Given the description of an element on the screen output the (x, y) to click on. 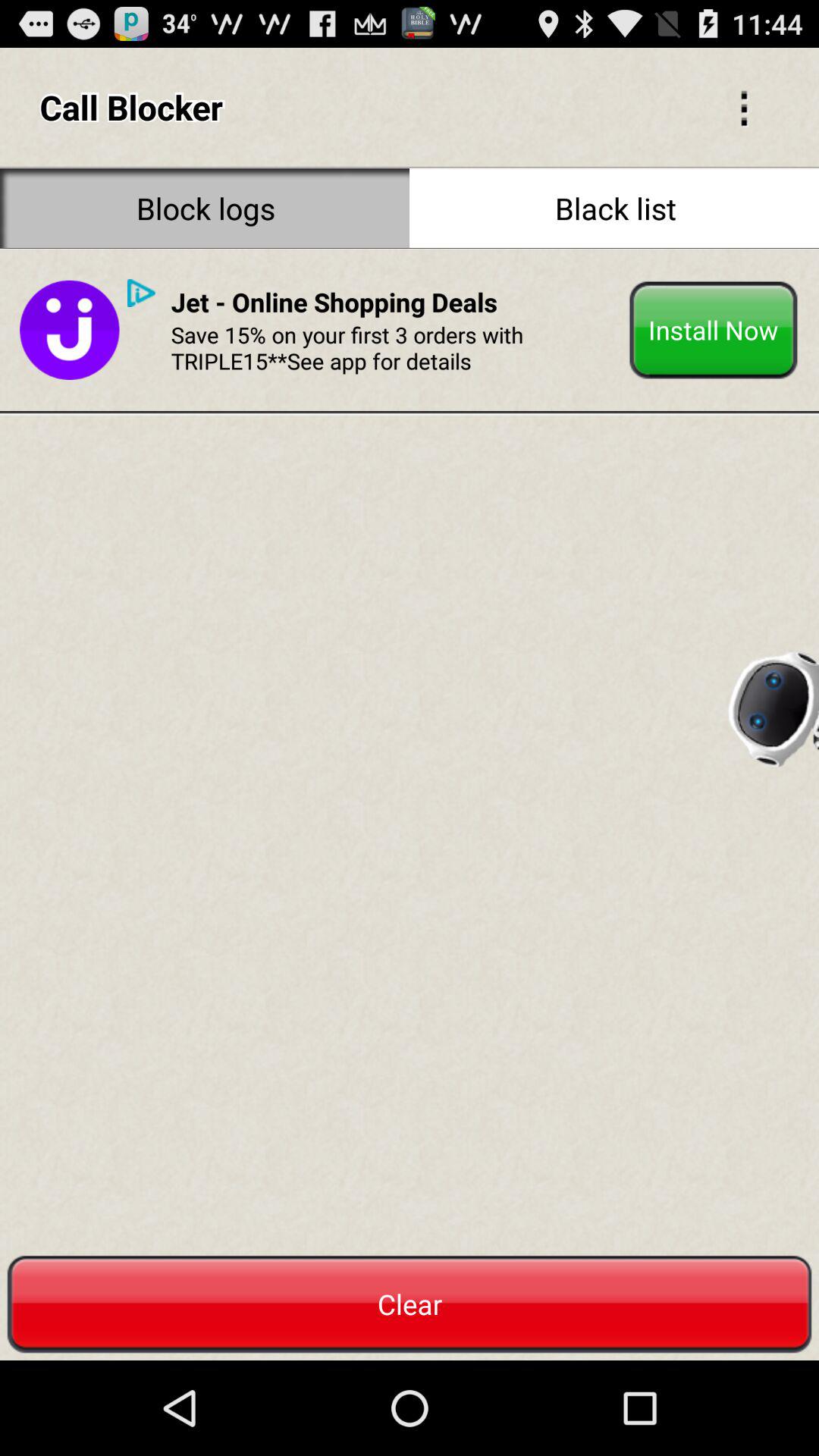
press item next to call blocker icon (744, 107)
